Given the description of an element on the screen output the (x, y) to click on. 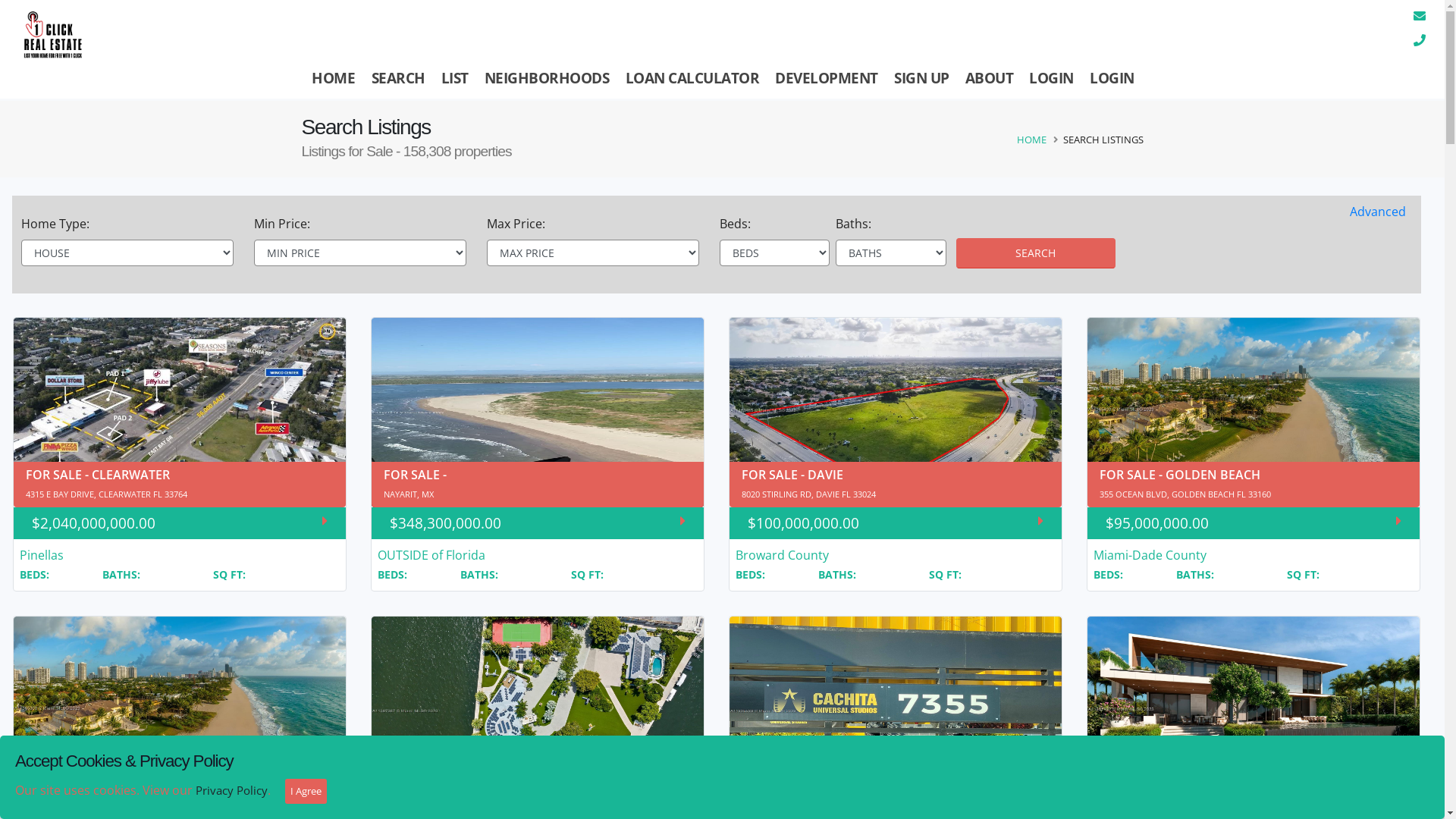
Advanced Element type: text (1377, 208)
Privacy Policy Element type: text (231, 789)
ABOUT Element type: text (988, 78)
HOME Element type: text (333, 78)
Email Agent Element type: hover (1417, 15)
LOAN CALCULATOR Element type: text (692, 78)
LIST Element type: text (454, 78)
I Agree Element type: text (305, 790)
SEARCH Element type: text (398, 78)
SIGN UP Element type: text (921, 78)
HOME Element type: text (1030, 139)
NEIGHBORHOODS Element type: text (546, 78)
LOGIN Element type: text (1051, 78)
Call Agent Element type: hover (1417, 39)
LOGIN Element type: text (1112, 78)
DEVELOPMENT Element type: text (826, 78)
